Given the description of an element on the screen output the (x, y) to click on. 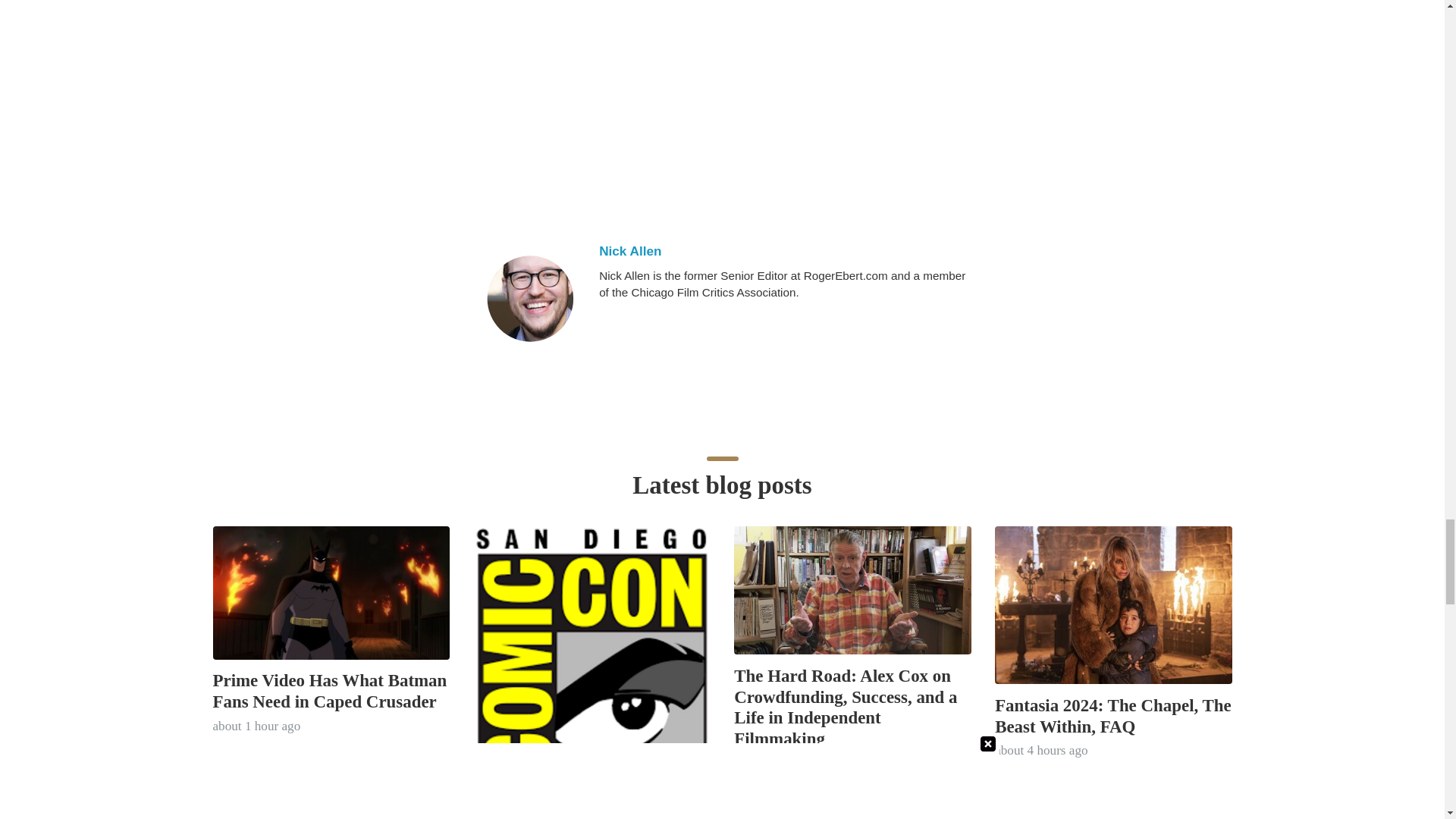
Nick Allen (529, 298)
